Given the description of an element on the screen output the (x, y) to click on. 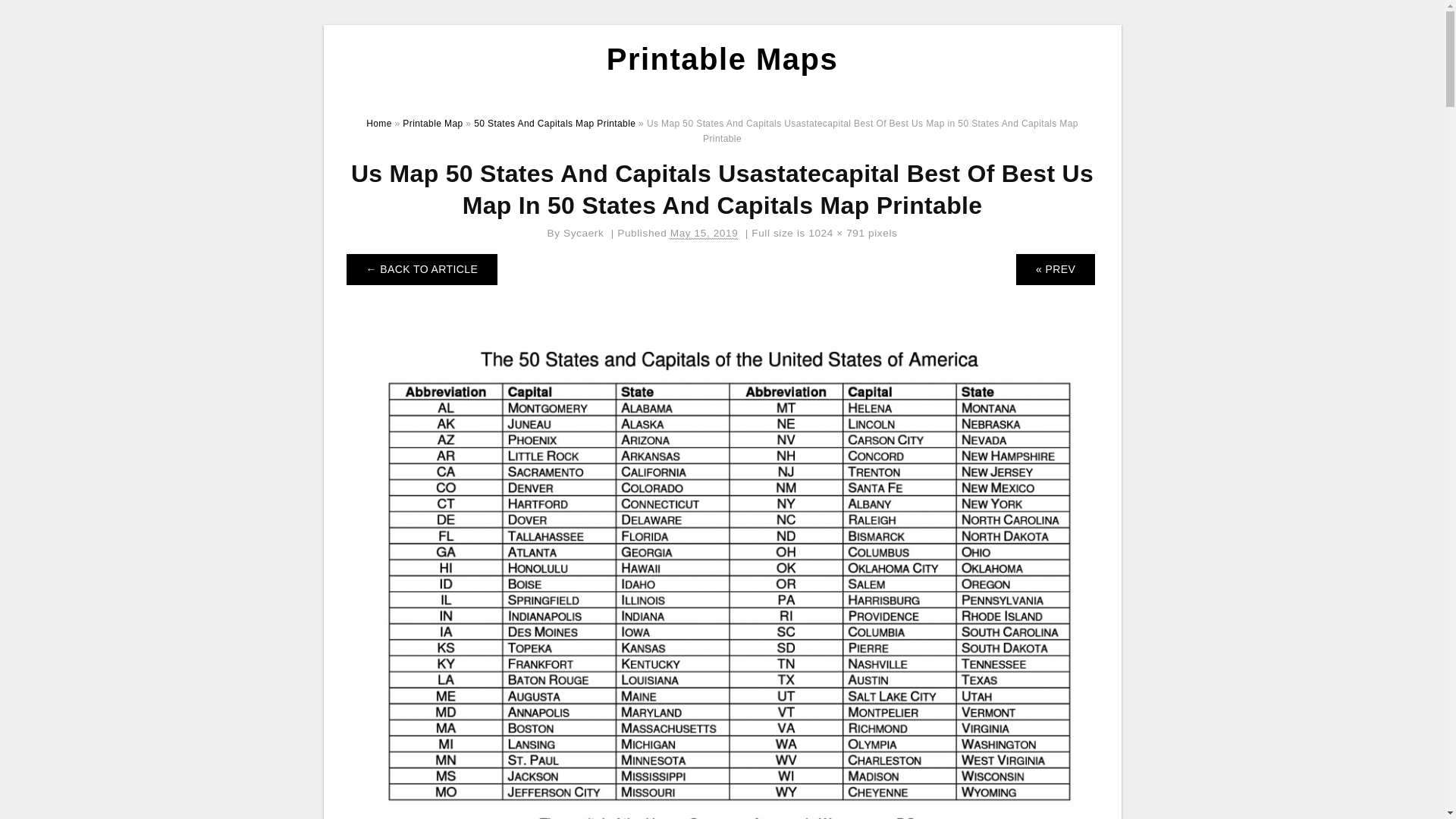
3:53 pm (703, 233)
Home (378, 122)
Printable Maps (722, 59)
Sycaerk (583, 233)
50 States And Capitals Map Printable (554, 122)
Return to 50 States And Capitals Map Printable (421, 269)
View all posts by Sycaerk (583, 233)
Link to full-size image (836, 233)
Printable Map (433, 122)
